Given the description of an element on the screen output the (x, y) to click on. 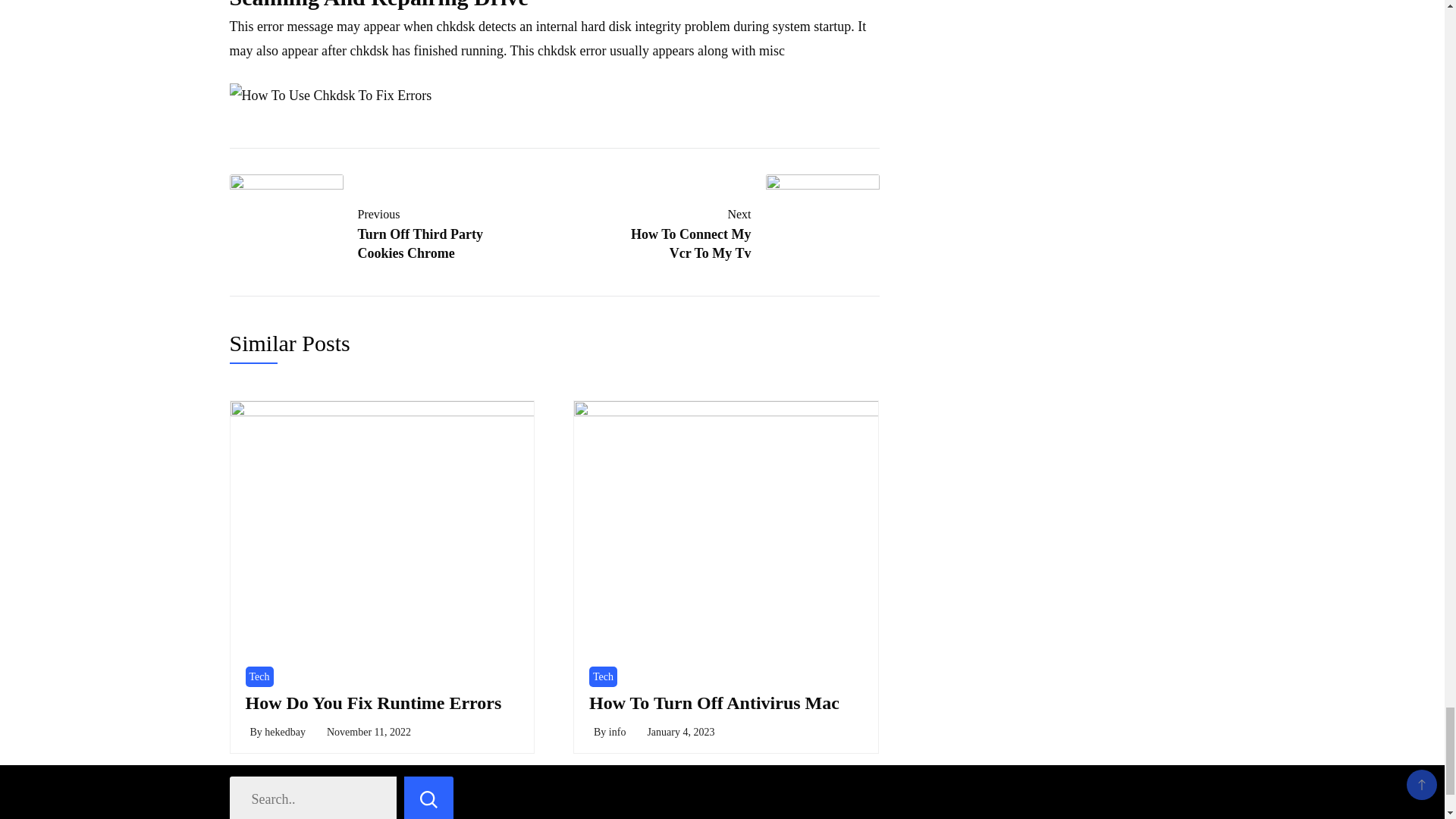
hekedbay (739, 231)
November 11, 2022 (284, 731)
How To Turn Off Antivirus Mac (368, 731)
How Do You Fix Runtime Errors (714, 702)
January 4, 2023 (368, 231)
Tech (374, 702)
Tech (680, 731)
info (603, 676)
